Given the description of an element on the screen output the (x, y) to click on. 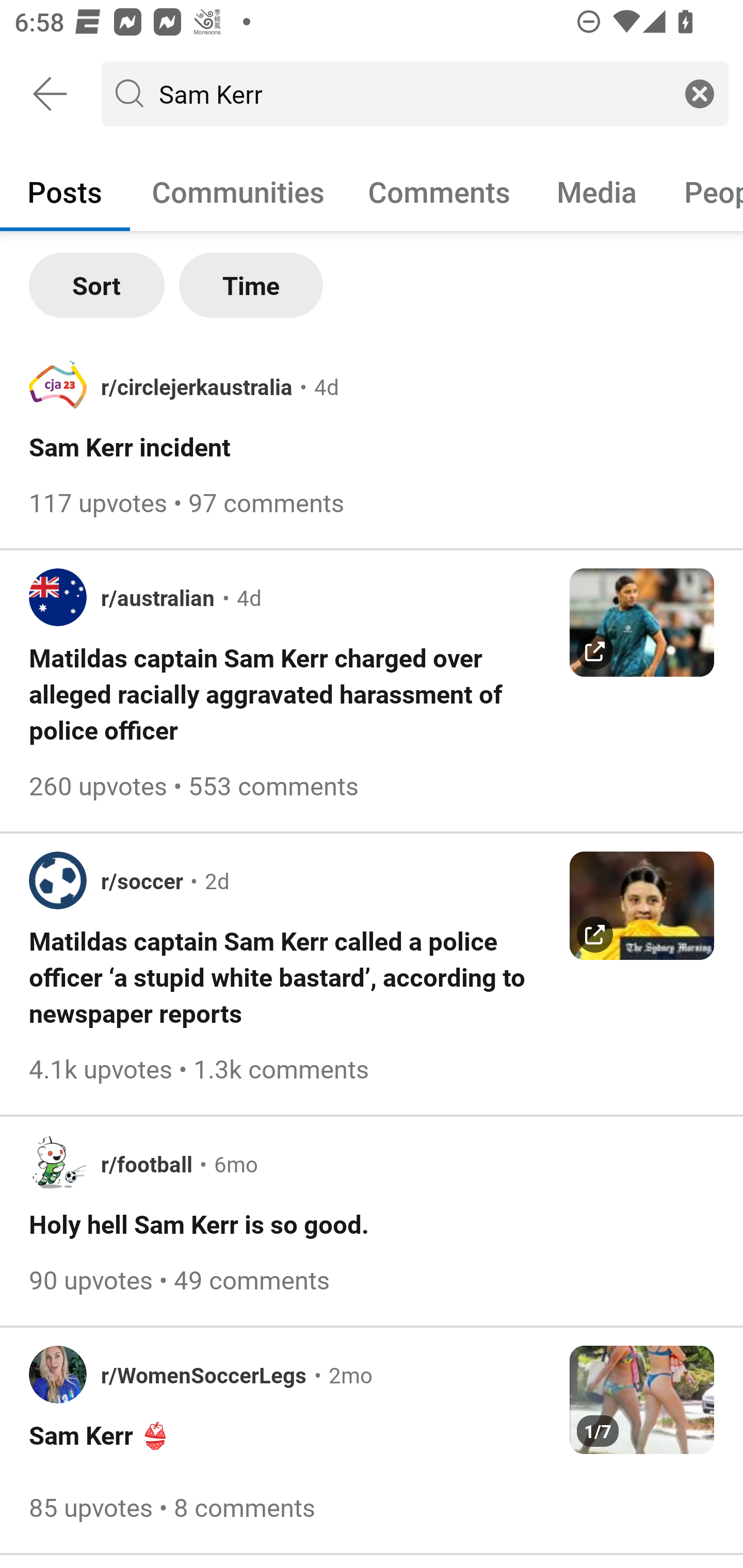
Back (50, 93)
Sam Kerr (410, 93)
Clear search (699, 93)
Communities (238, 191)
Comments (438, 191)
Media (596, 191)
Sort Sort by Most relevant (96, 285)
Time Filter Time by All time (251, 285)
